Given the description of an element on the screen output the (x, y) to click on. 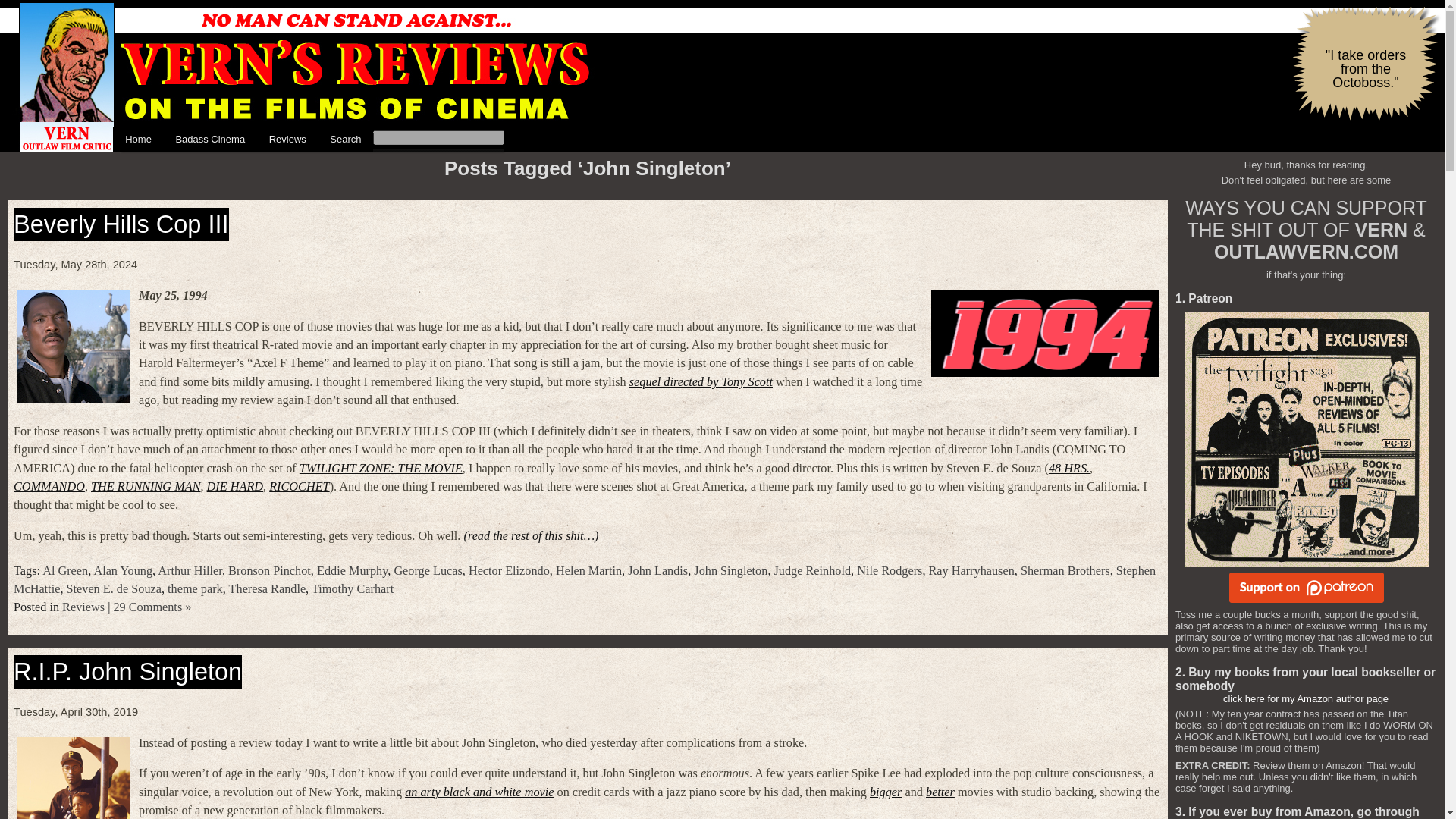
Home (138, 139)
Permanent Link to R.I.P. John Singleton (127, 671)
Permanent Link to Beverly Hills Cop III (120, 224)
